Given the description of an element on the screen output the (x, y) to click on. 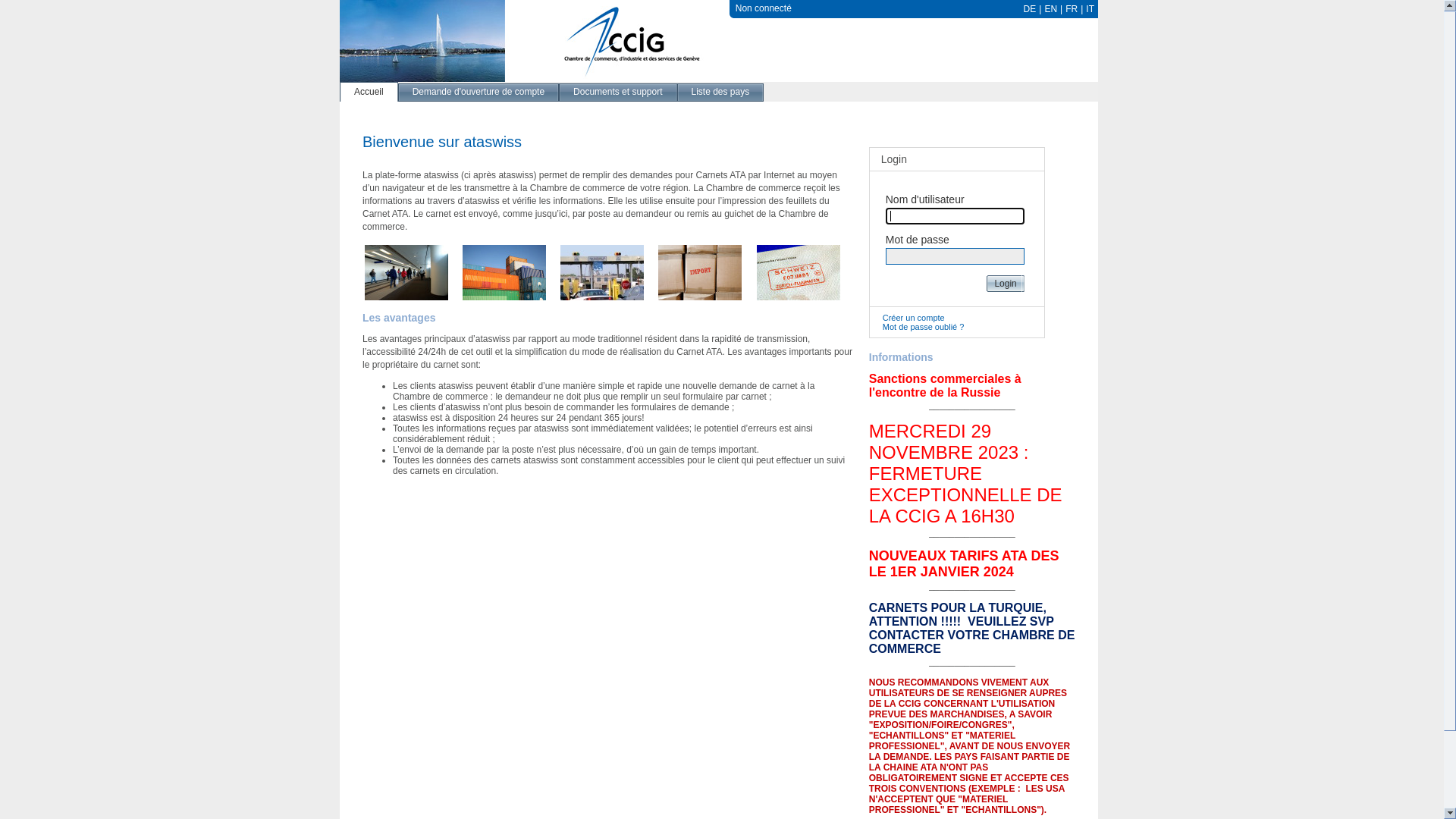
IT Element type: text (1089, 8)
EN Element type: text (1050, 8)
Login Element type: text (1003, 283)
Documents et support Element type: text (617, 91)
Demande d'ouverture de compte Element type: text (478, 91)
Liste des pays Element type: text (719, 91)
Accueil Element type: text (368, 91)
DE Element type: text (1029, 8)
FR Element type: text (1071, 8)
NOUVEAUX TARIFS ATA DES LE 1ER JANVIER 2024 Element type: text (964, 565)
